Given the description of an element on the screen output the (x, y) to click on. 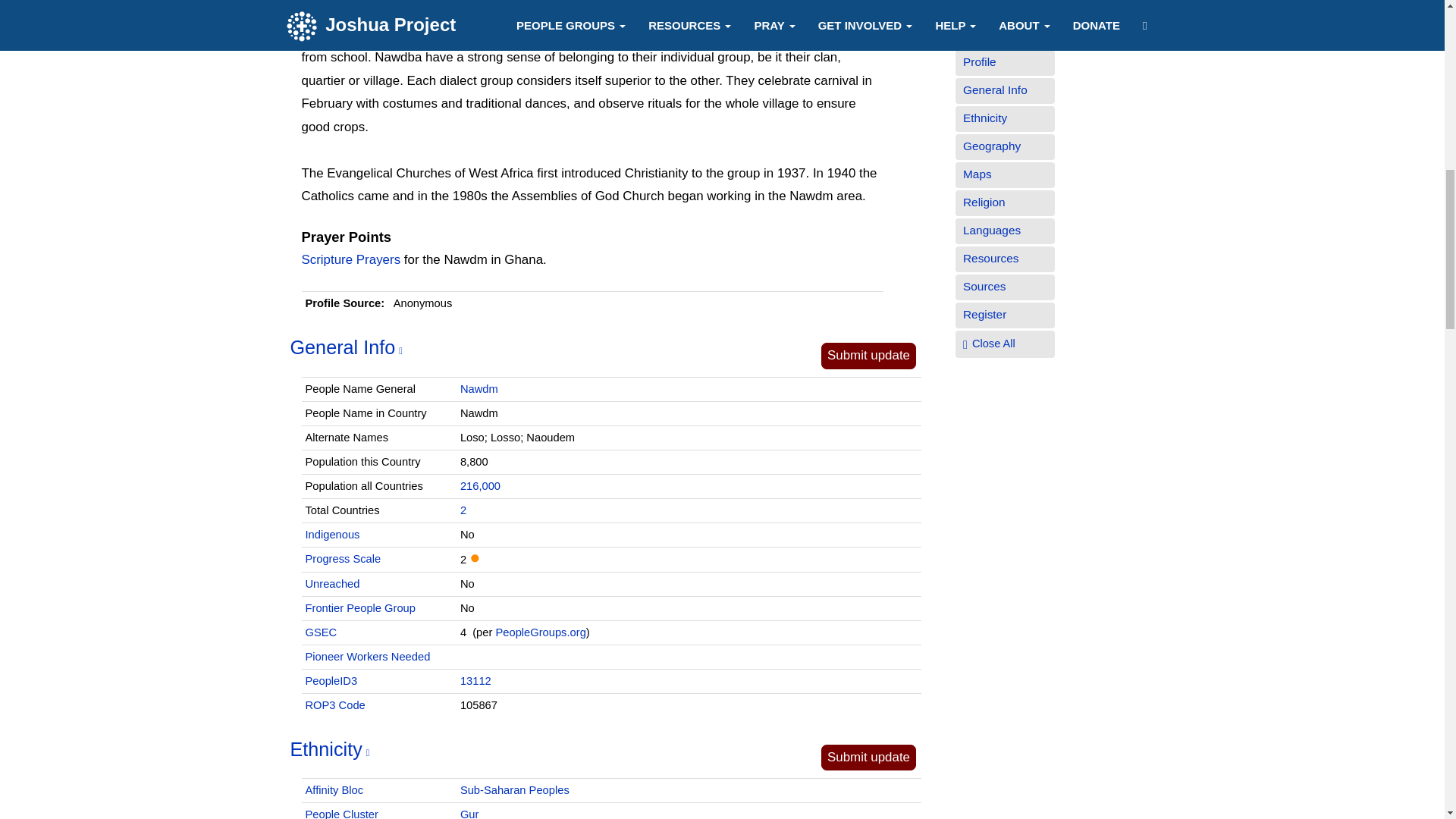
Close All (994, 343)
